Given the description of an element on the screen output the (x, y) to click on. 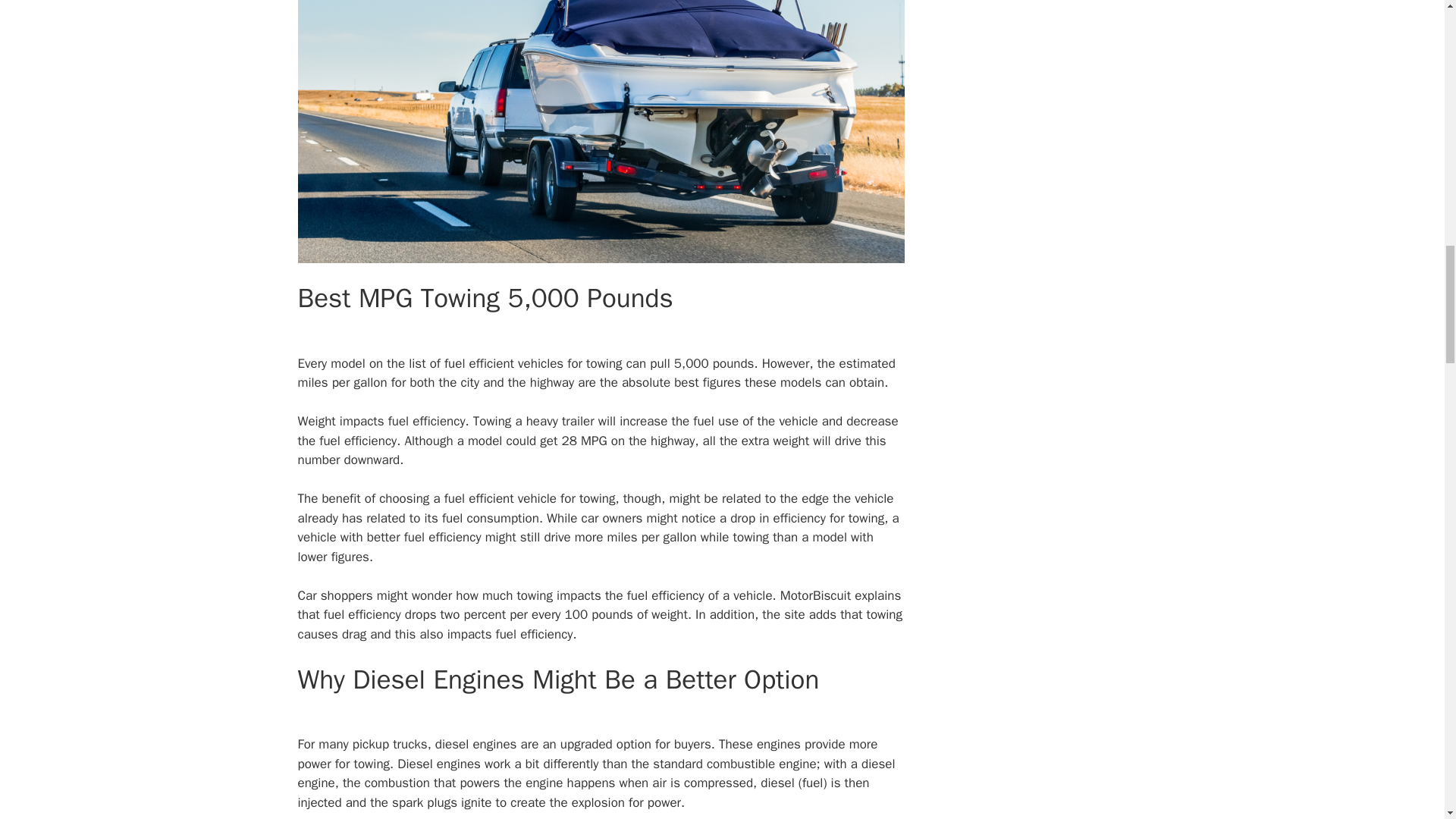
diesel engines (475, 744)
drops two percent per every 100 pounds of weight (545, 614)
happens when air is compressed (659, 782)
